Given the description of an element on the screen output the (x, y) to click on. 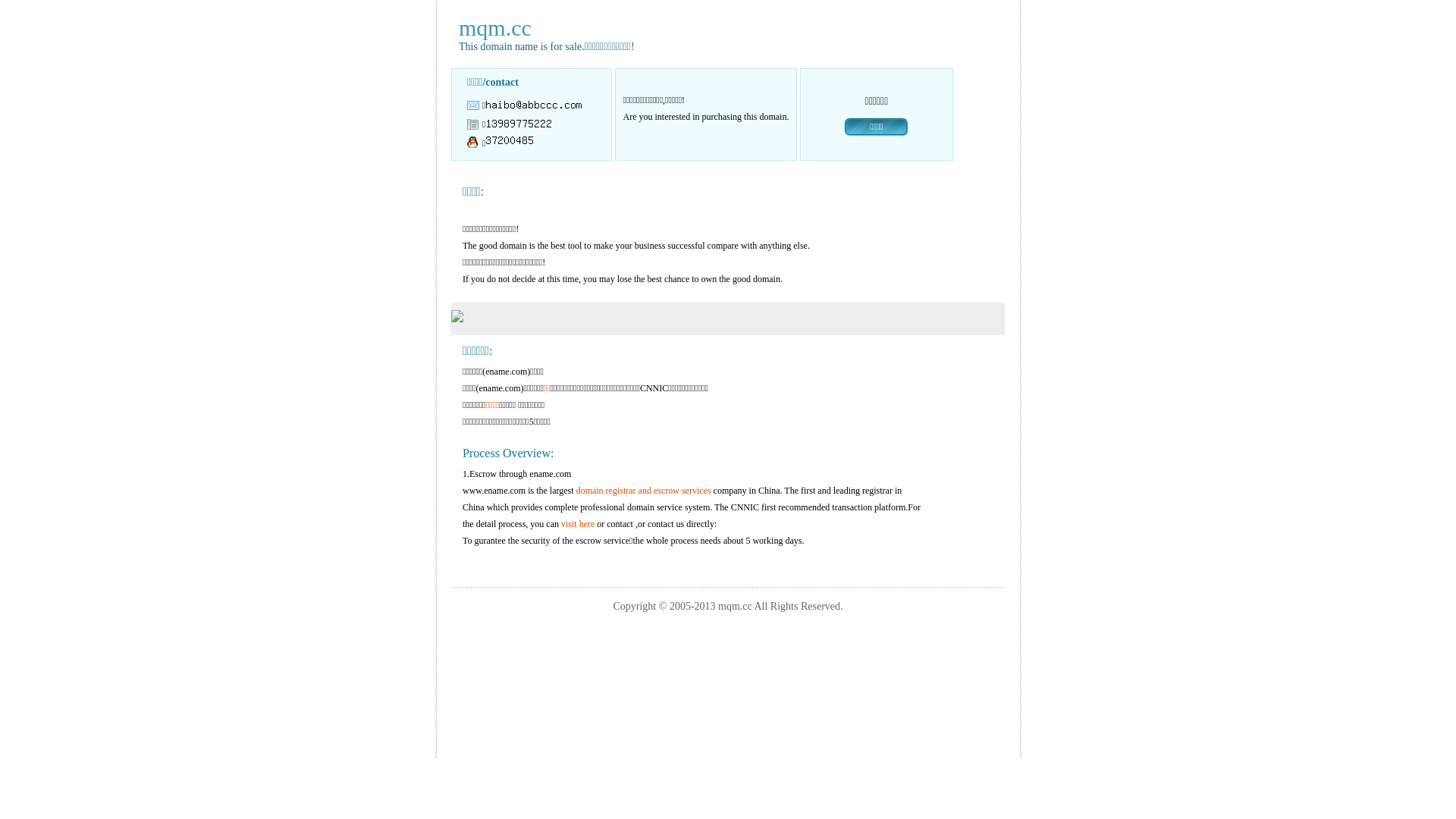
visit here Element type: text (577, 523)
